Given the description of an element on the screen output the (x, y) to click on. 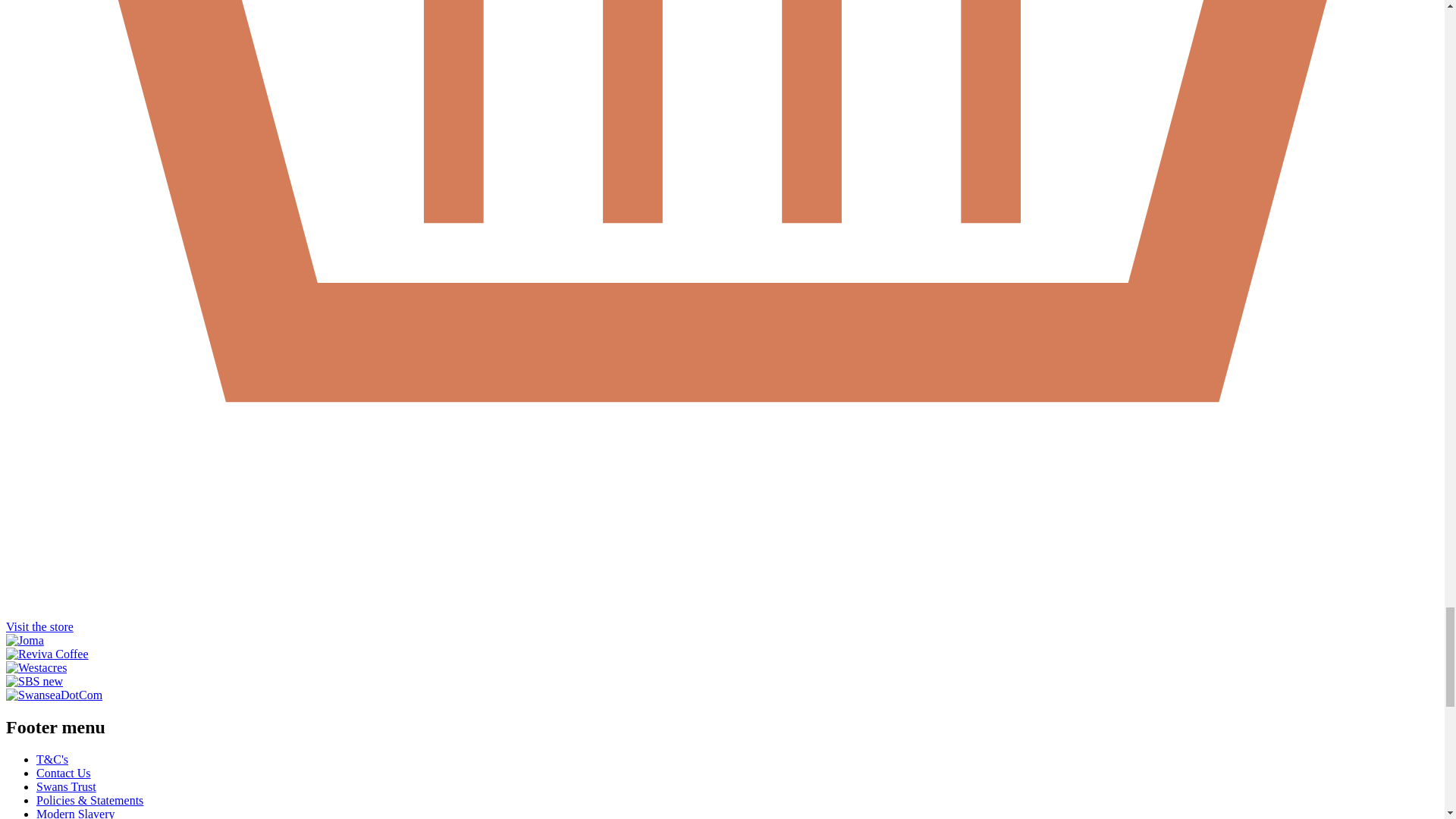
Swansea sponsor (35, 667)
Swansea sponsor (53, 694)
Swansea sponsor (46, 653)
Swansea sponsor (24, 640)
